Given the description of an element on the screen output the (x, y) to click on. 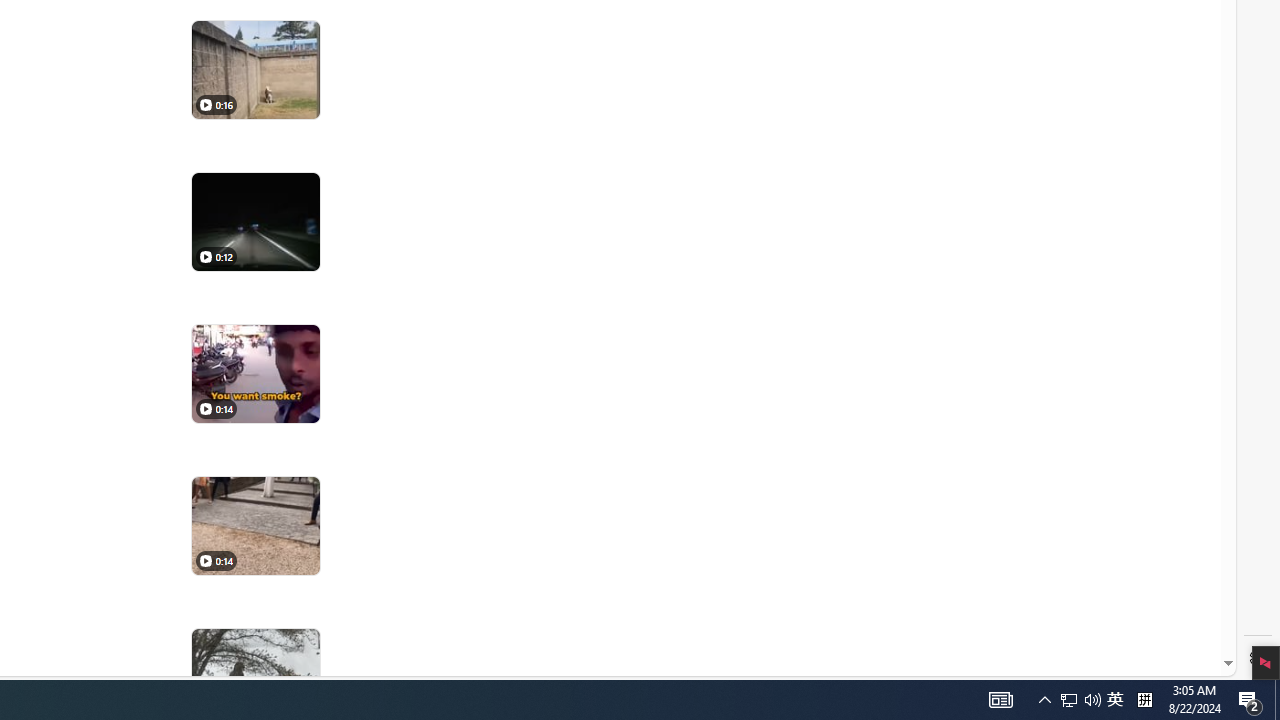
Class: h-[12px] w-[12px] shrink-0 (205, 561)
r/MadeMeSmile - When you know you are next (255, 525)
r/MadeMeSmile - When you know you are next (255, 525)
r/ContagiousLaughter - Do you smoke? (255, 373)
r/ContagiousLaughter - Do you smoke? (255, 373)
